Given the description of an element on the screen output the (x, y) to click on. 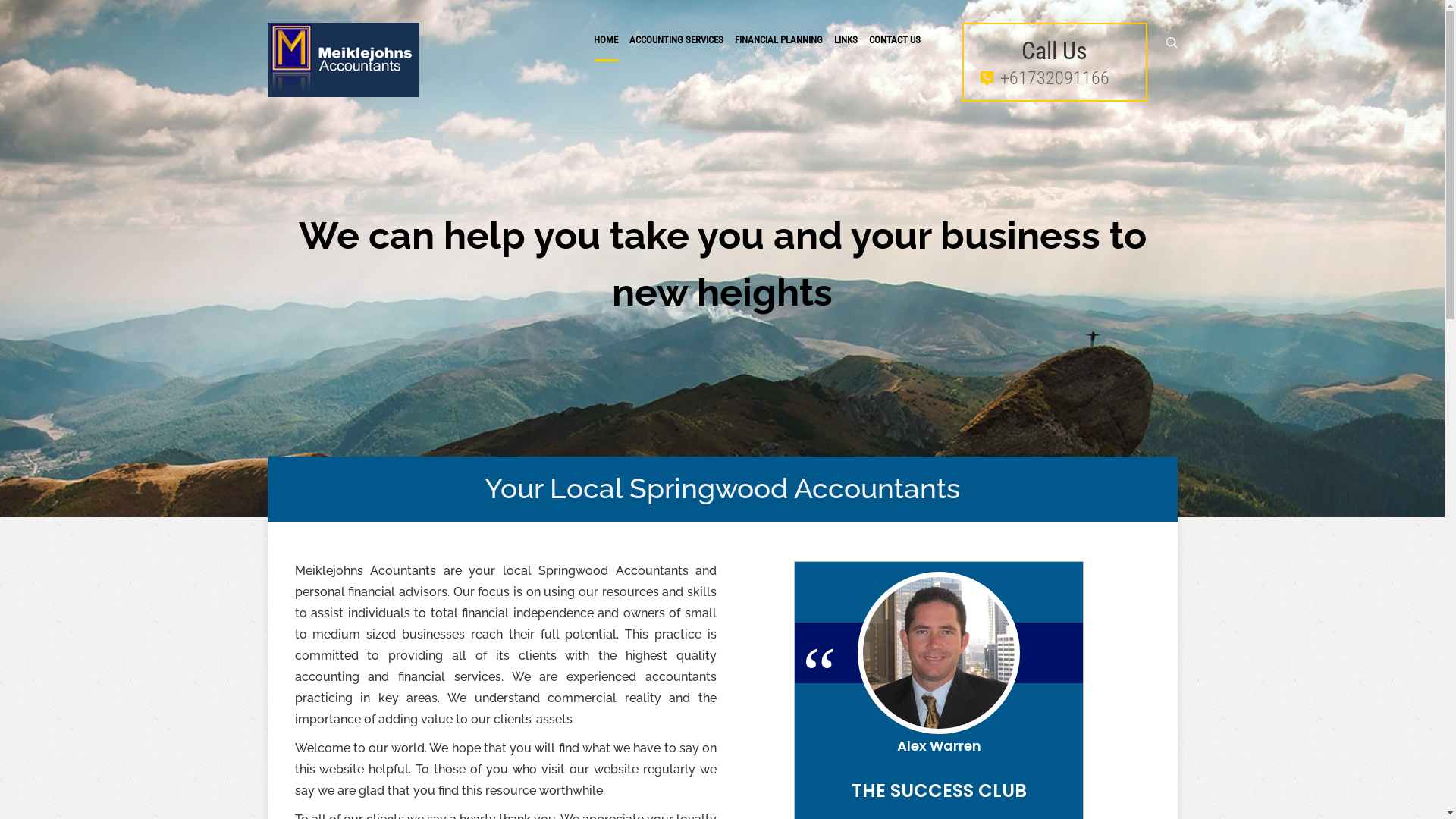
LINKS Element type: text (845, 39)
FINANCIAL PLANNING Element type: text (778, 39)
HOME Element type: text (605, 39)
CONTACT US Element type: text (894, 39)
Call Us
+61732091166 Element type: text (1053, 61)
ACCOUNTING SERVICES Element type: text (676, 39)
